Given the description of an element on the screen output the (x, y) to click on. 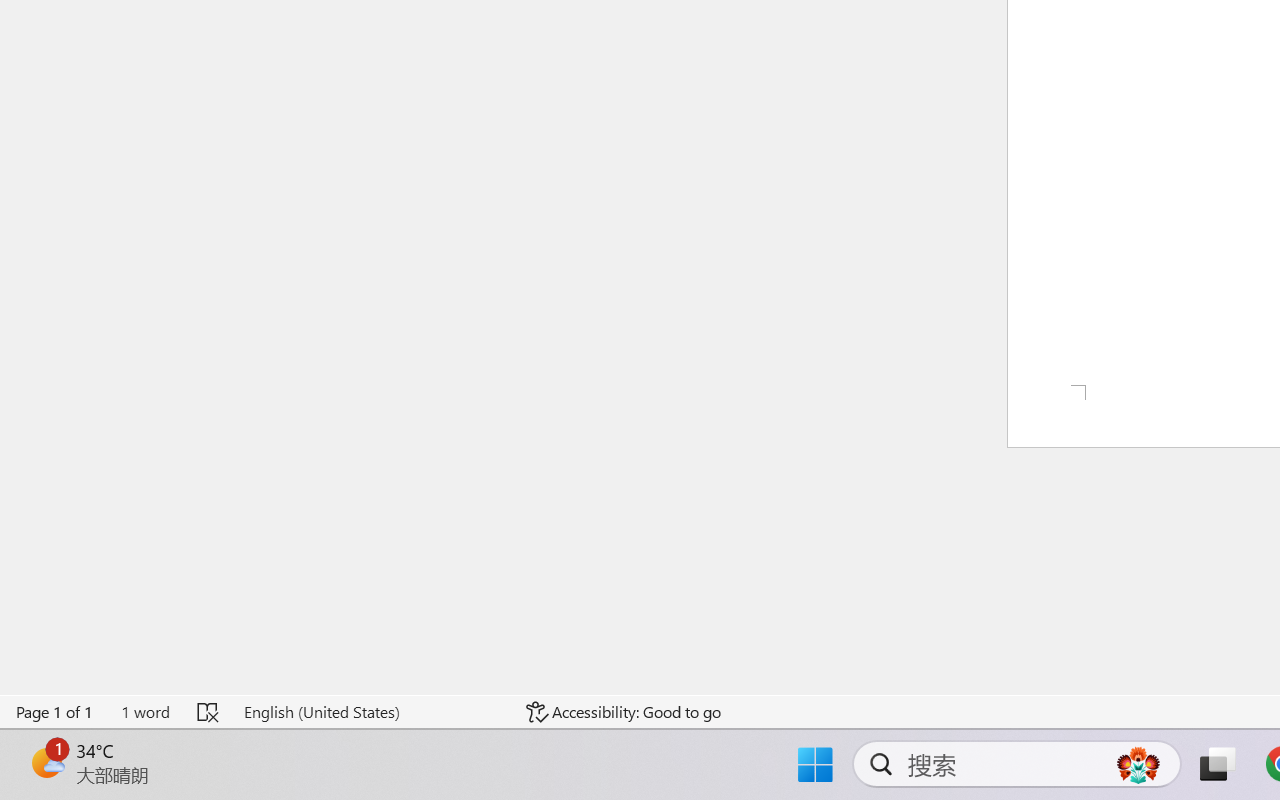
Spelling and Grammar Check Errors (208, 712)
